Given the description of an element on the screen output the (x, y) to click on. 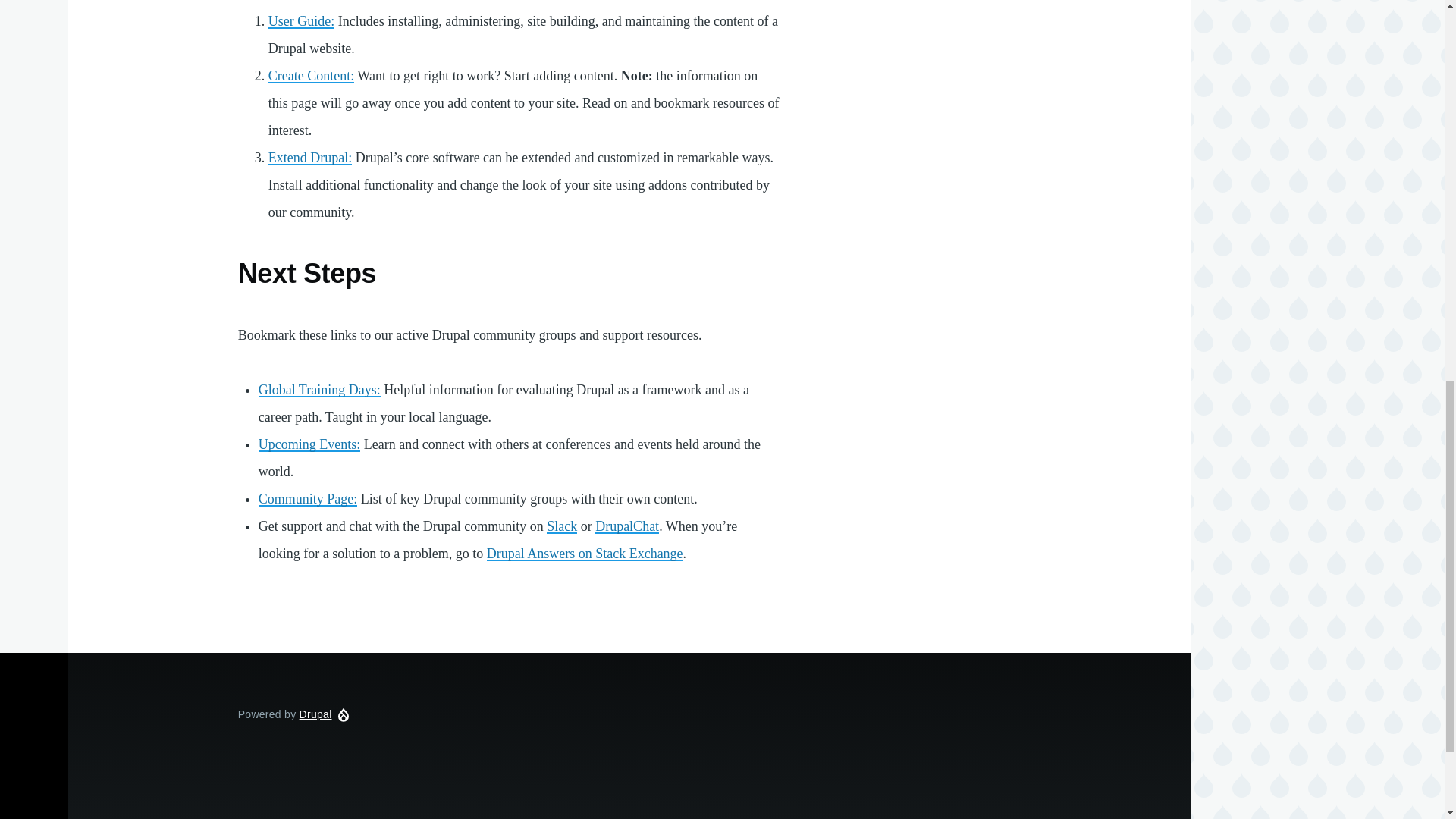
User Guide: (300, 20)
Drupal Answers on Stack Exchange (584, 553)
Drupal (315, 714)
Upcoming Events: (309, 444)
Slack (561, 525)
Extend Drupal: (309, 157)
Global Training Days: (319, 389)
Create Content: (310, 75)
DrupalChat (627, 525)
Community Page: (308, 498)
